Given the description of an element on the screen output the (x, y) to click on. 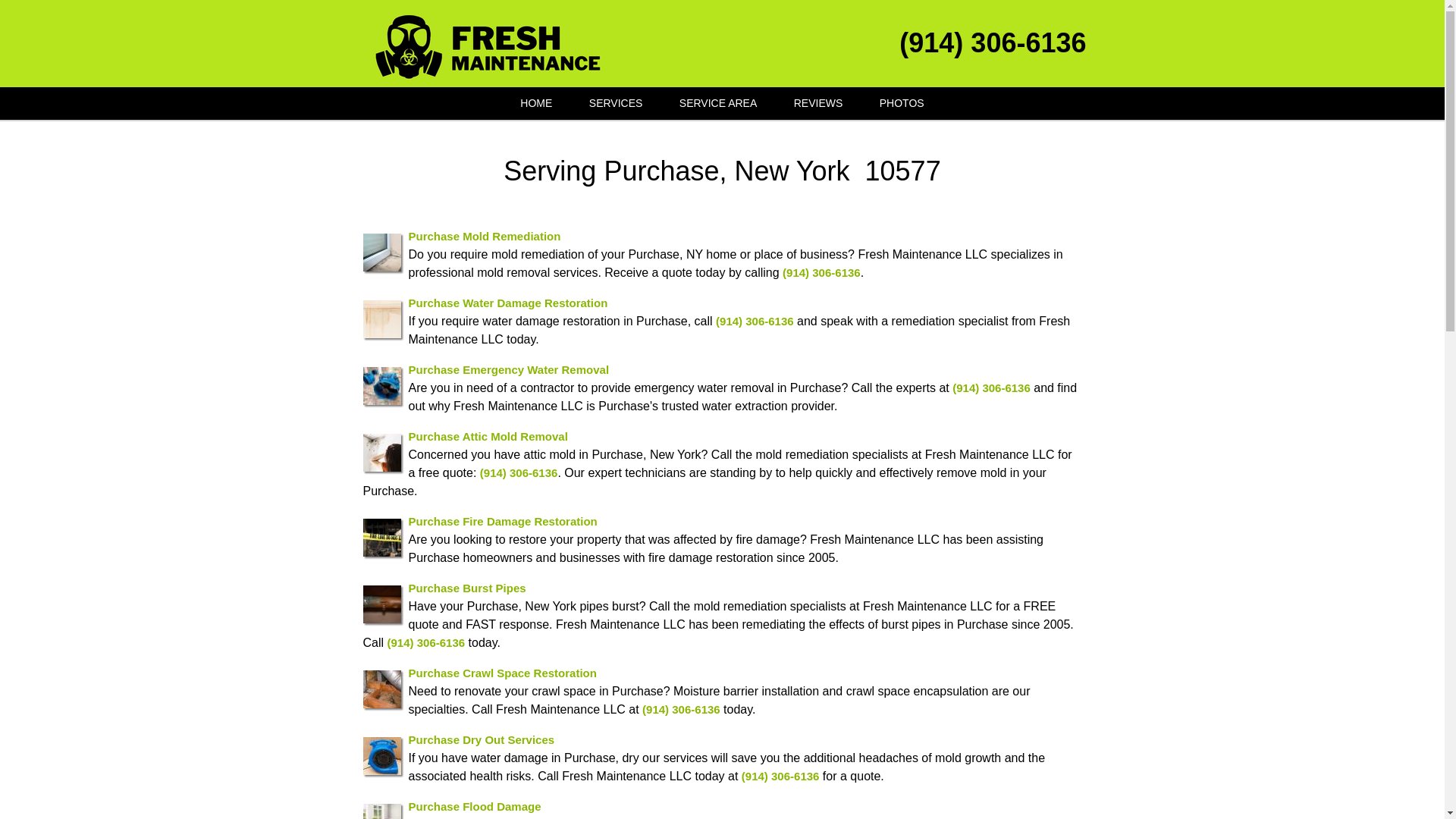
Purchase Crawl Space Restoration (501, 671)
HOME (536, 102)
Purchase Fire Damage Restoration (501, 520)
Purchase Mold Remediation (483, 235)
Purchase Emergency Water Removal (507, 368)
Purchase Dry Out Services (480, 738)
Purchase Water Damage Restoration (507, 301)
SERVICES (615, 102)
Purchase Flood Damage (473, 805)
SERVICE AREA (717, 102)
